Given the description of an element on the screen output the (x, y) to click on. 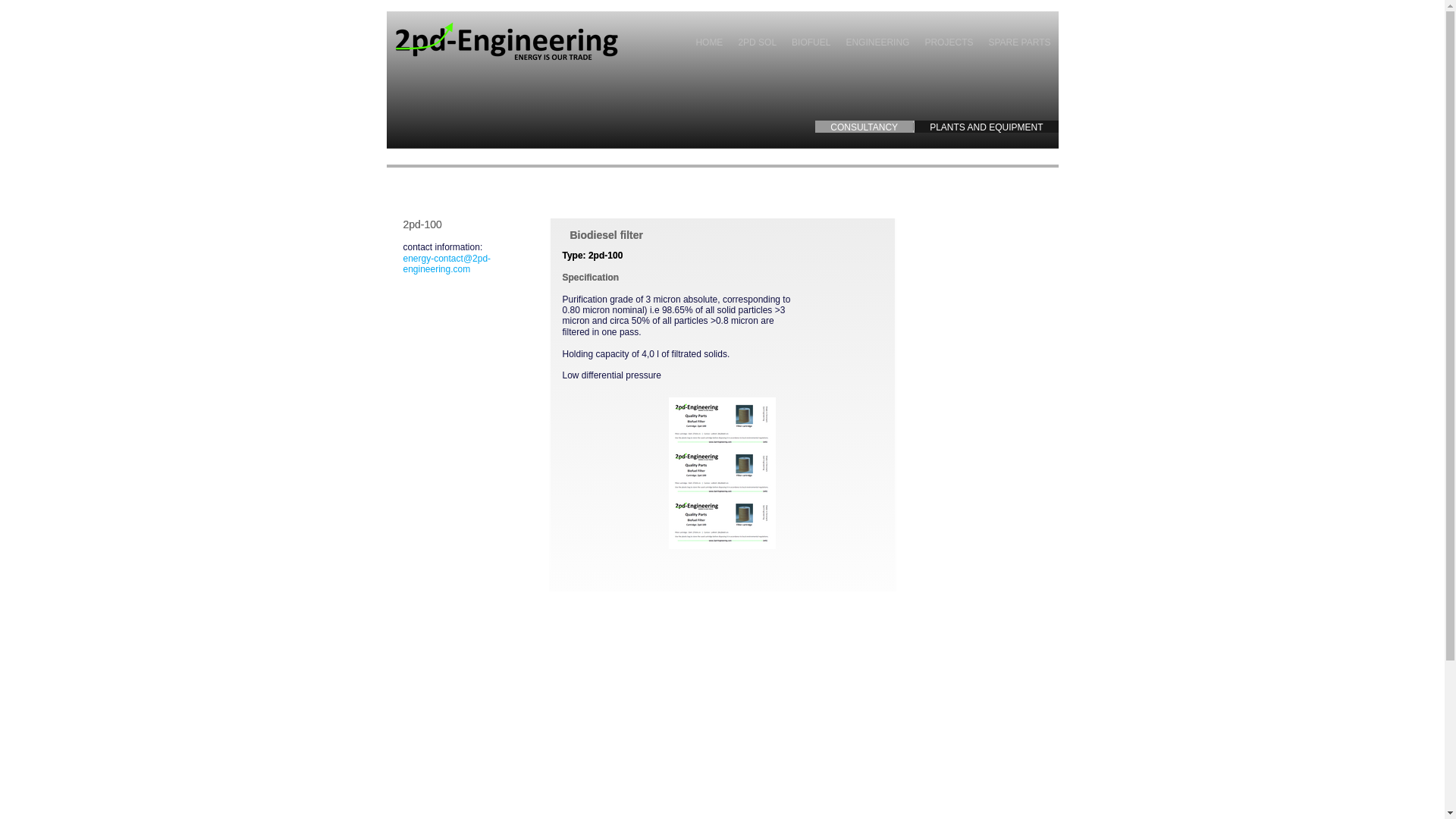
energy-contact@2pd-engineering.com Element type: text (447, 263)
SPARE PARTS Element type: text (1018, 41)
CONSULTANCY Element type: text (864, 126)
PLANTS AND EQUIPMENT Element type: text (985, 126)
HOME Element type: text (708, 41)
ENGINEERING Element type: text (876, 41)
2PD SOL Element type: text (757, 41)
PROJECTS Element type: text (948, 41)
BIOFUEL Element type: text (810, 41)
